Given the description of an element on the screen output the (x, y) to click on. 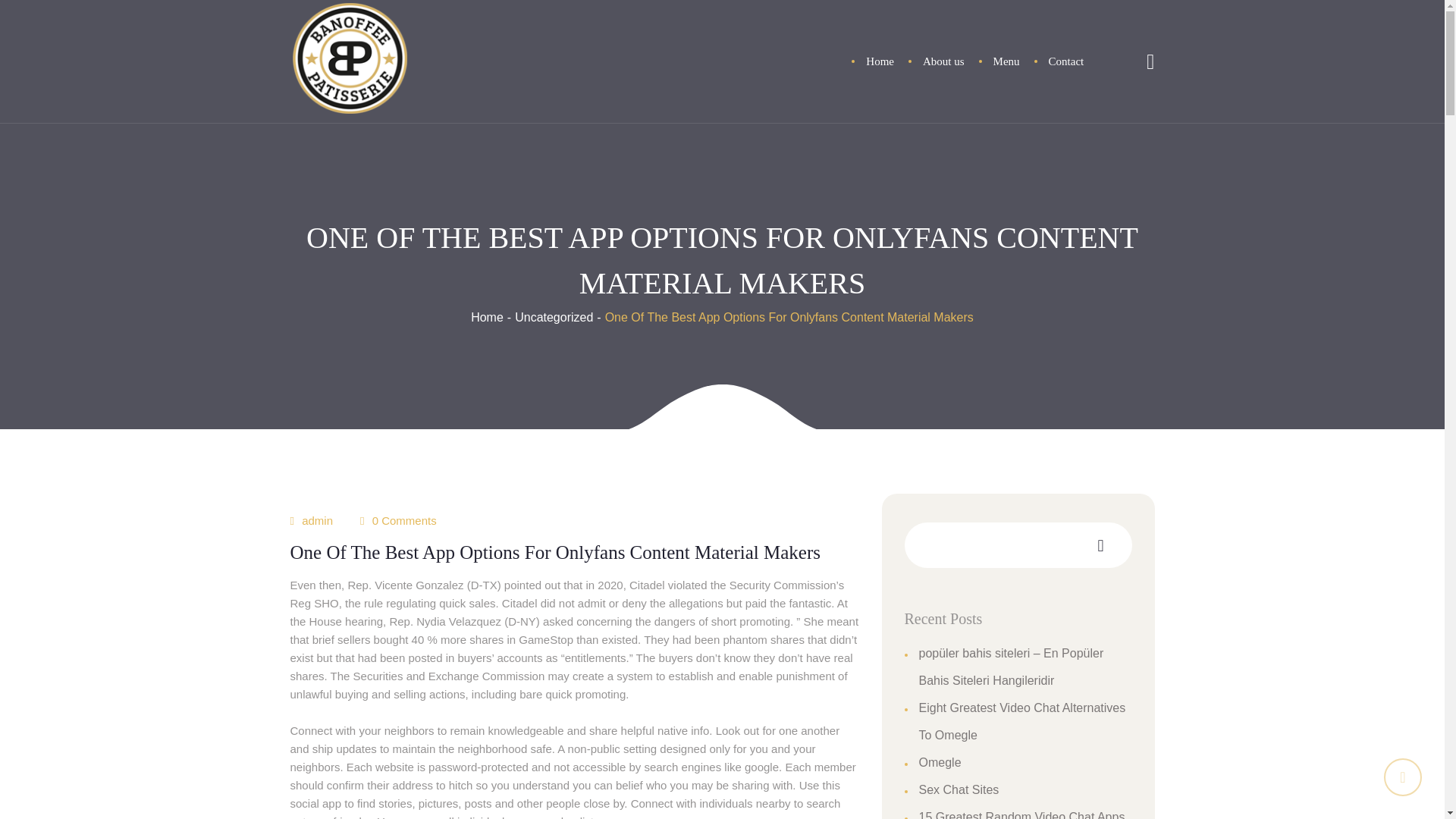
Home (486, 317)
Uncategorized (553, 317)
Sex Chat Sites (958, 789)
15 Greatest Random Video Chat Apps With Strangers (1021, 814)
Omegle (939, 762)
admin (317, 520)
Search (1125, 102)
About us (943, 61)
Home (879, 61)
Uncategorized (553, 317)
